Given the description of an element on the screen output the (x, y) to click on. 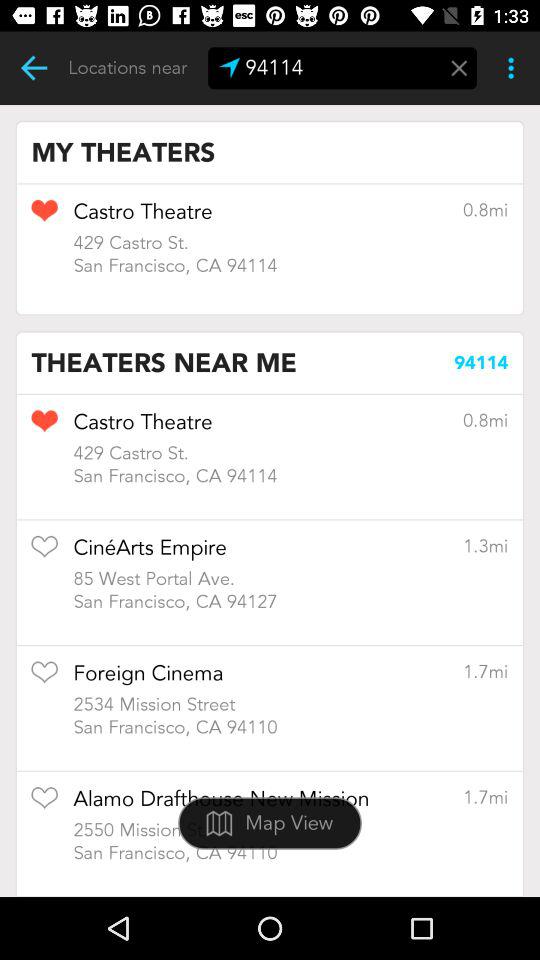
heart symbol (44, 217)
